Given the description of an element on the screen output the (x, y) to click on. 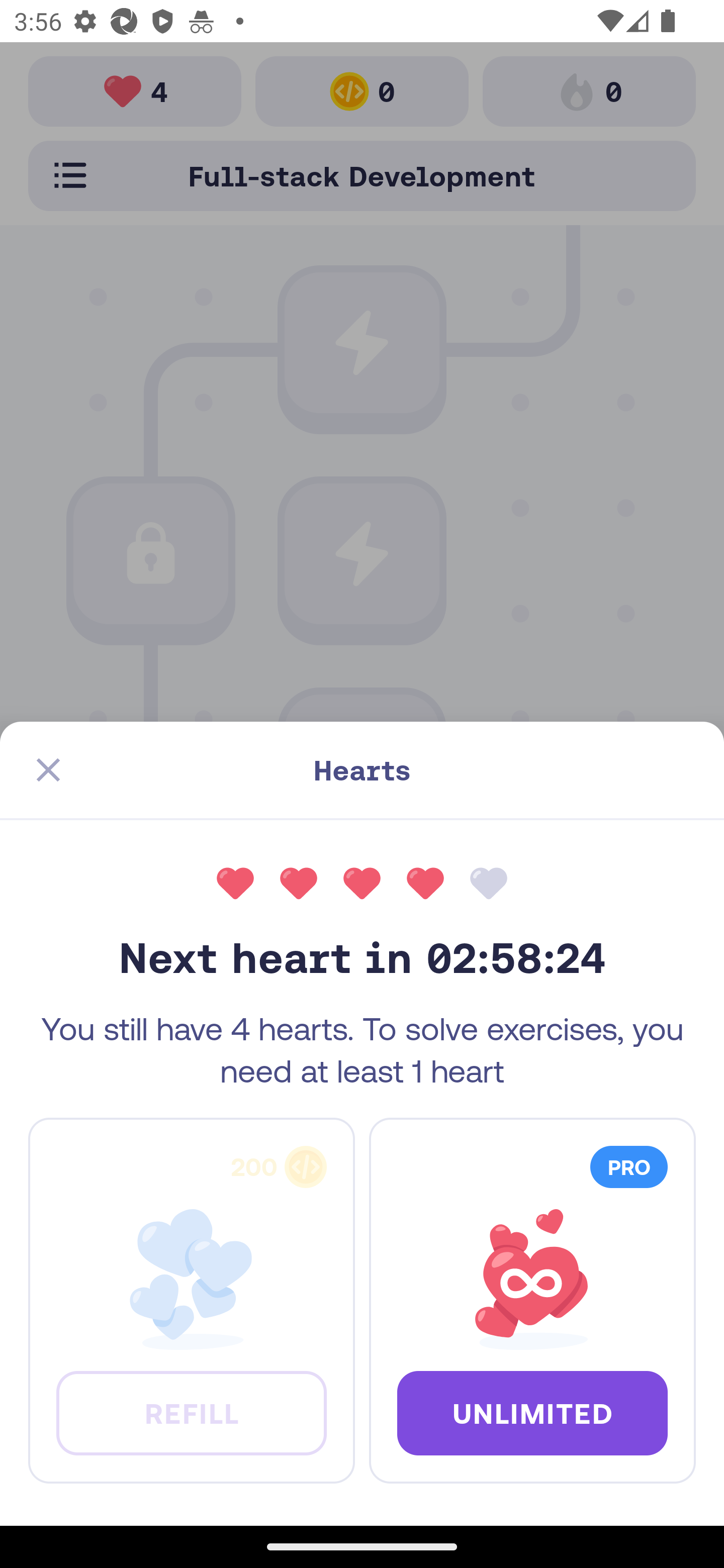
Path Icon (361, 764)
Close (47, 769)
REFILL (191, 1412)
UNLIMITED (532, 1412)
